Given the description of an element on the screen output the (x, y) to click on. 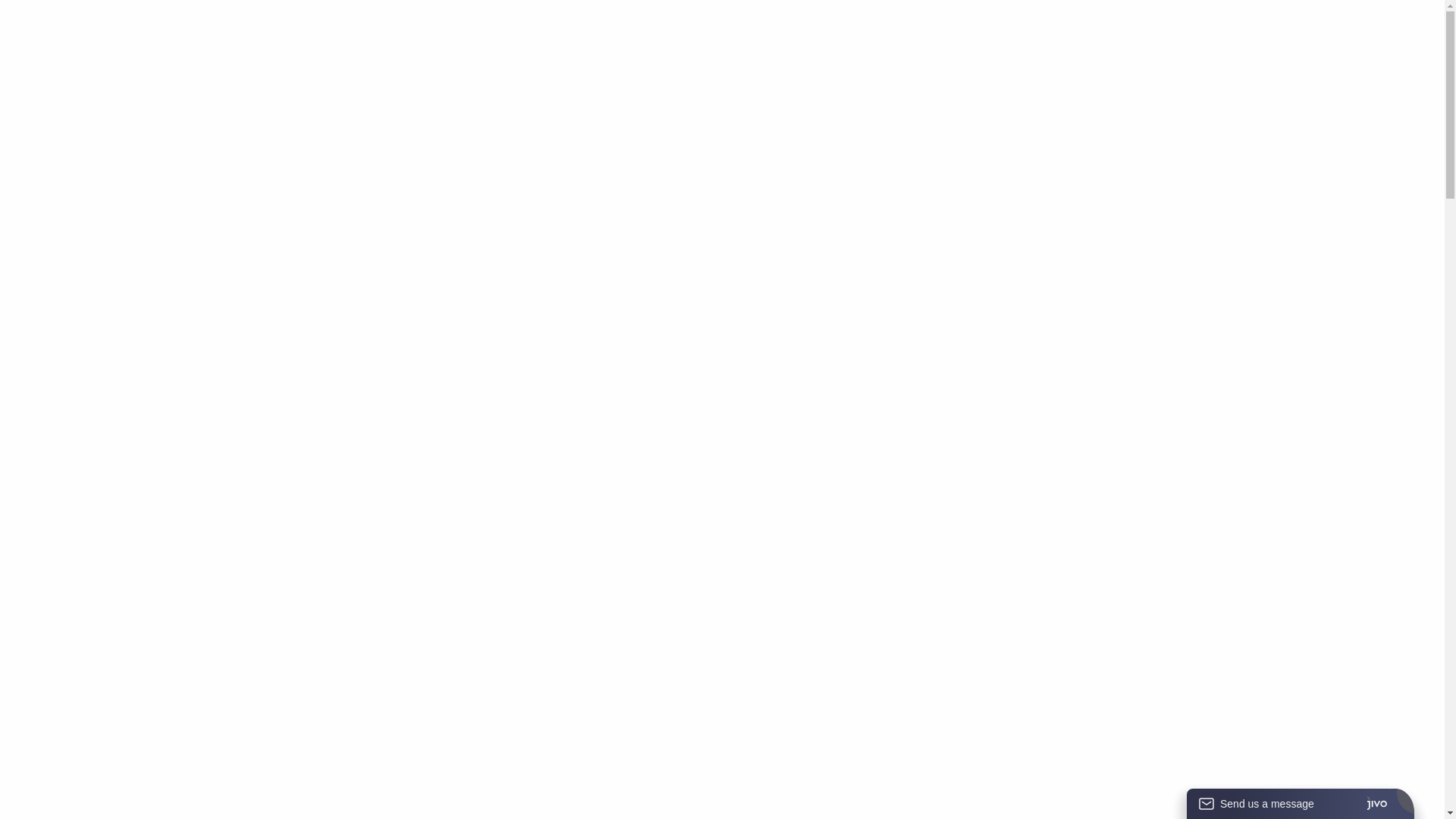
Apple Element type: text (597, 25)
+375(29) 601-60-55 Element type: text (363, 41)
+375(33) 626-45-68 Element type: text (353, 60)
